Given the description of an element on the screen output the (x, y) to click on. 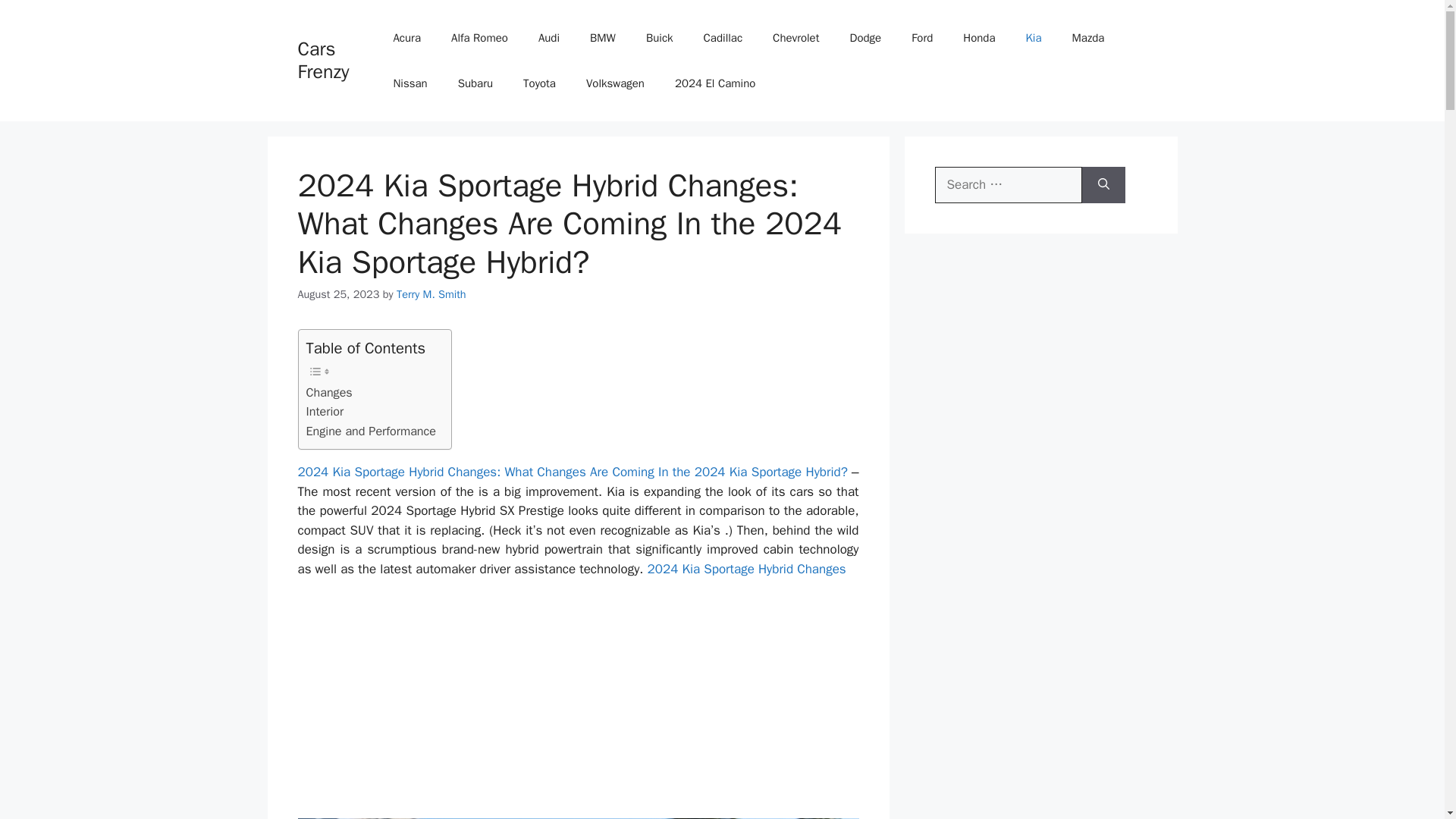
Honda (978, 37)
Advertisement (578, 704)
Interior (324, 411)
Volkswagen (614, 83)
Kia (1033, 37)
Dodge (865, 37)
2024 Kia Sportage Hybrid Changes (746, 569)
Ford (921, 37)
Audi (548, 37)
Cars Frenzy (323, 59)
Interior (324, 411)
Buick (659, 37)
Changes (328, 392)
View all posts by Terry M. Smith (430, 294)
